Given the description of an element on the screen output the (x, y) to click on. 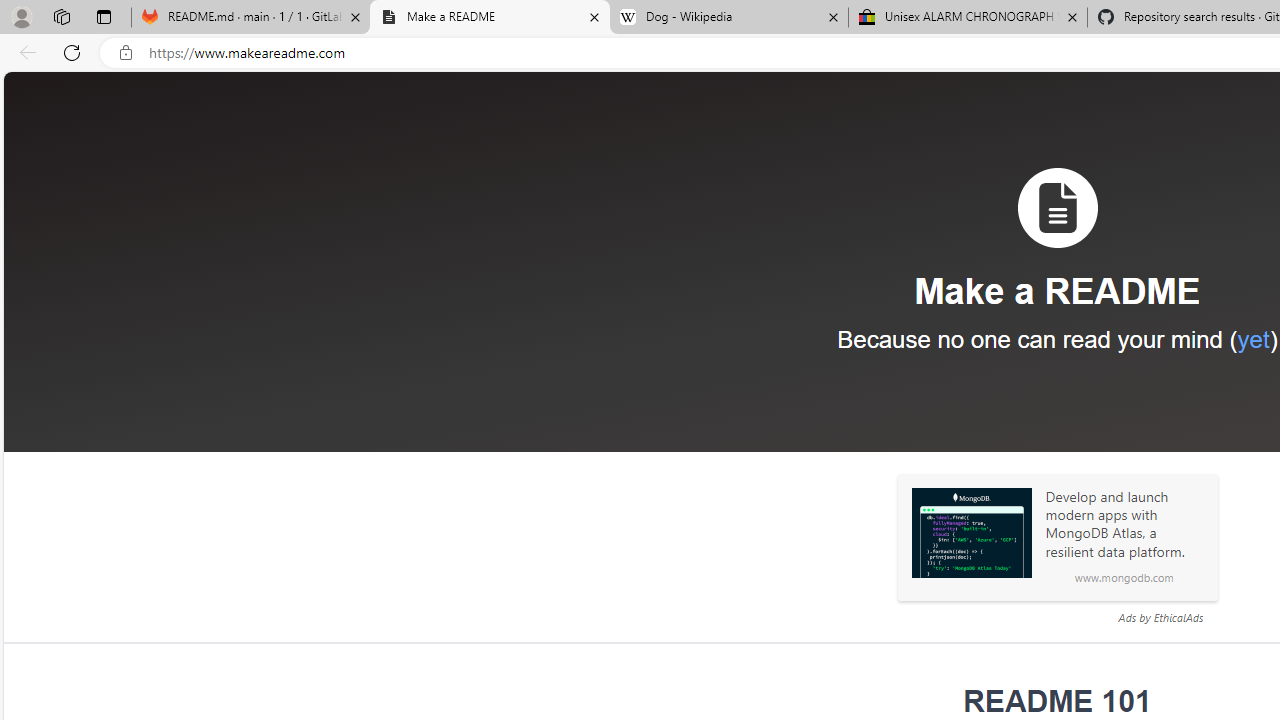
Anchor (950, 701)
yet (1252, 339)
Sponsored: MongoDB (971, 533)
Sponsored: MongoDB (971, 533)
Ads by EthicalAds (1160, 617)
